Given the description of an element on the screen output the (x, y) to click on. 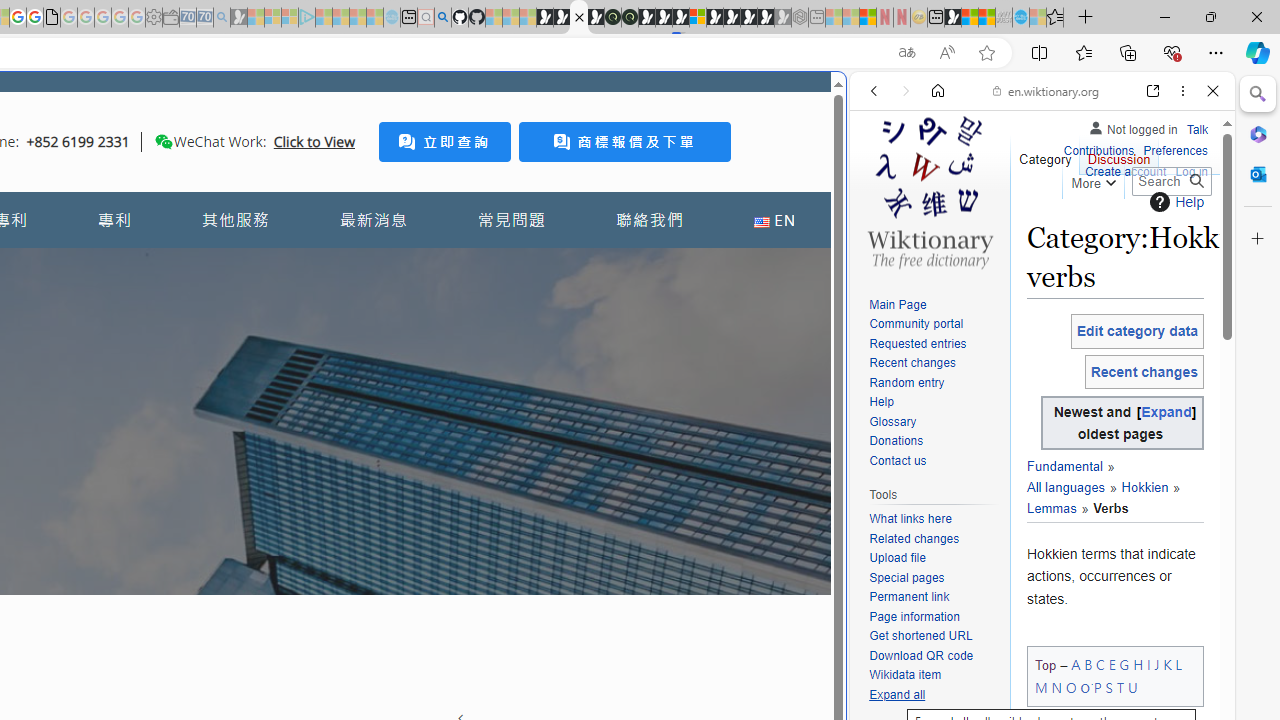
Random entry (934, 382)
Wiktionary (1034, 669)
T (1120, 687)
Recent changes (934, 363)
Download QR code (934, 655)
Play Zoo Boom in your browser | Games from Microsoft Start (561, 17)
